Given the description of an element on the screen output the (x, y) to click on. 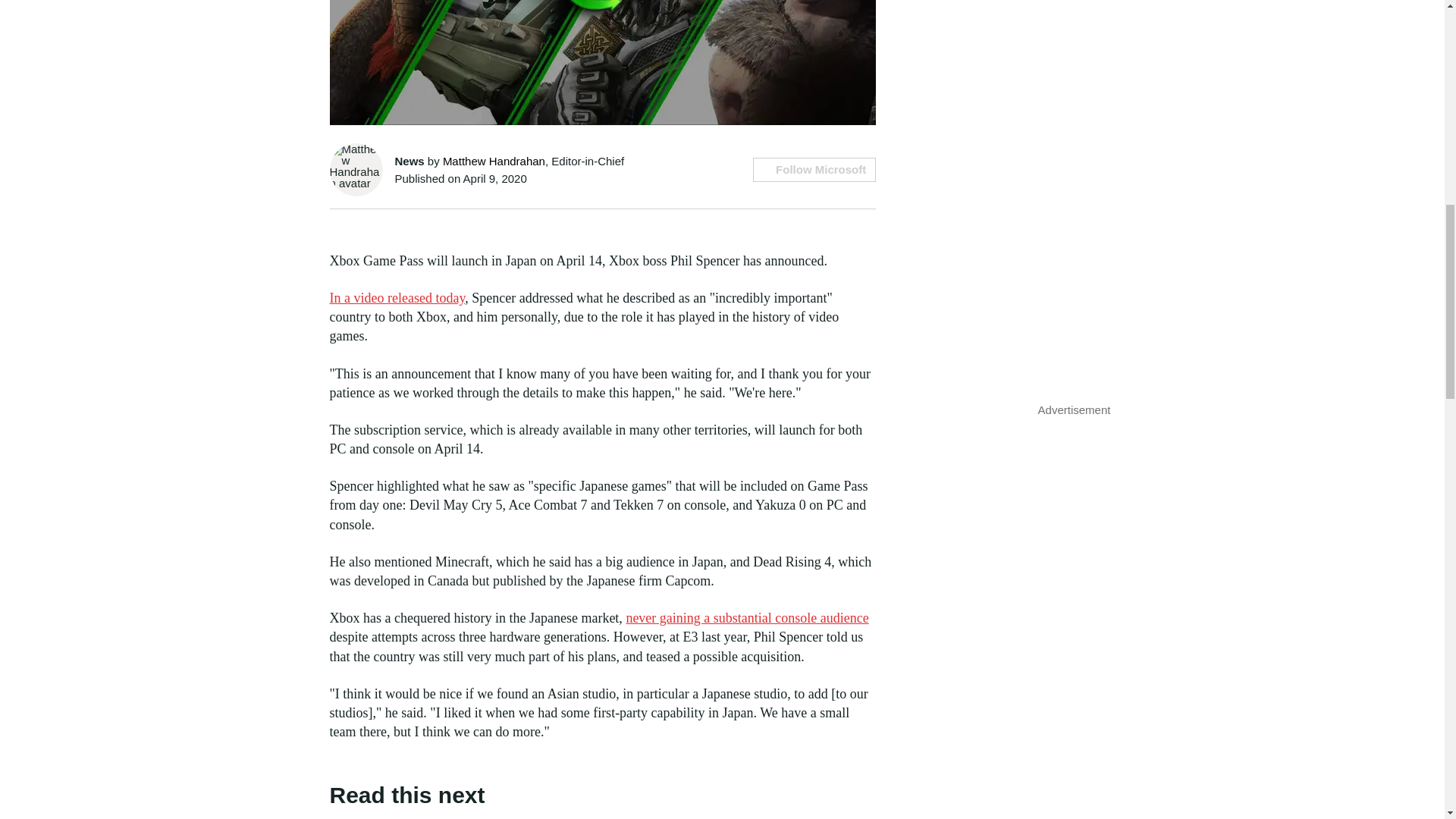
never gaining a substantial console audience (746, 617)
Follow Microsoft (814, 169)
Follow Microsoft (814, 169)
In a video released today (396, 297)
Matthew Handrahan (493, 160)
